Given the description of an element on the screen output the (x, y) to click on. 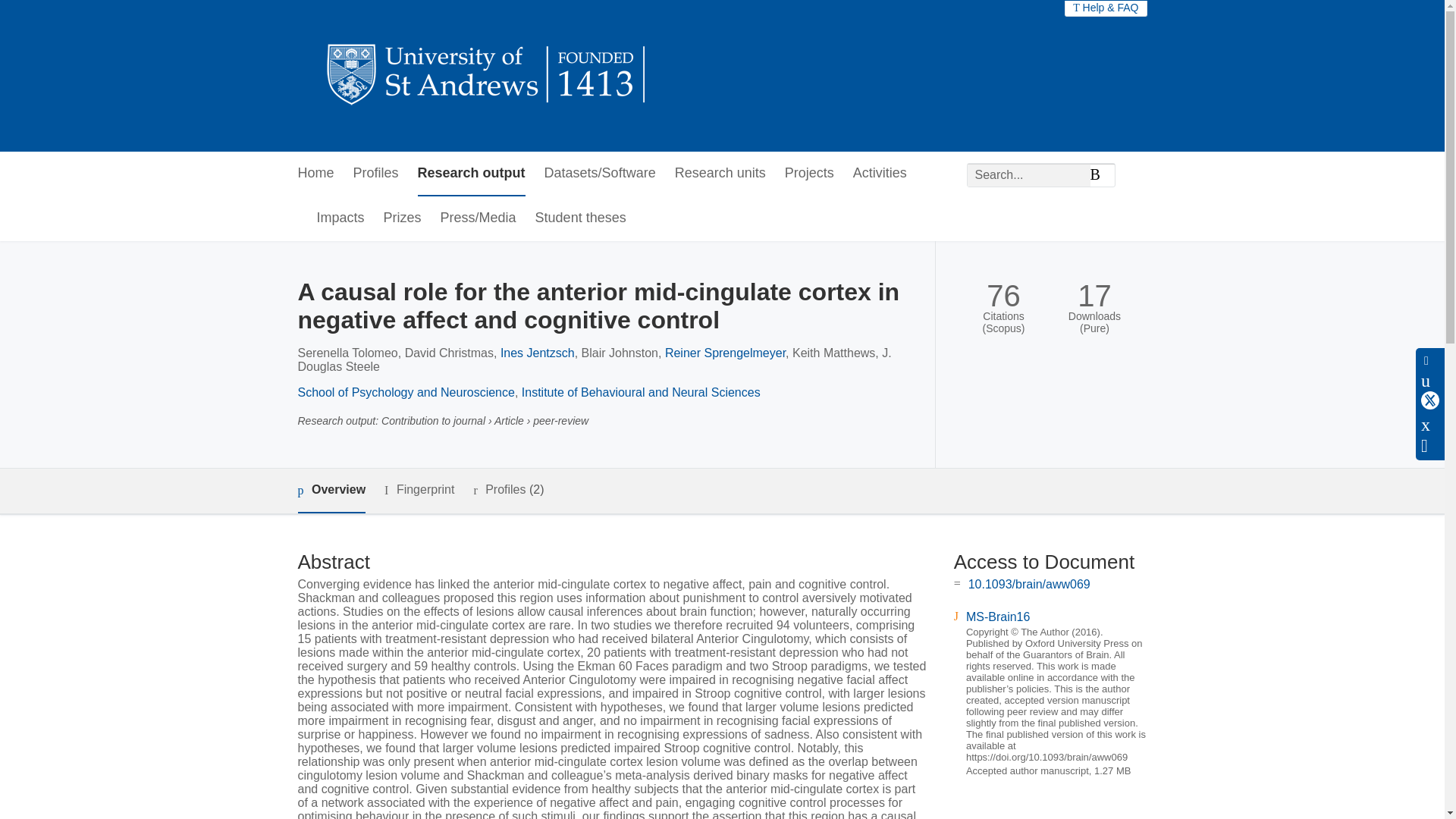
Fingerprint (419, 489)
MS-Brain16 (997, 616)
University of St Andrews Research Portal Home (487, 75)
Home (315, 173)
Reiner Sprengelmeyer (725, 352)
Overview (331, 490)
Impacts (341, 218)
Projects (809, 173)
Institute of Behavioural and Neural Sciences (640, 391)
School of Psychology and Neuroscience (405, 391)
Student theses (580, 218)
Prizes (403, 218)
Research output (471, 173)
Activities (880, 173)
Research units (720, 173)
